Given the description of an element on the screen output the (x, y) to click on. 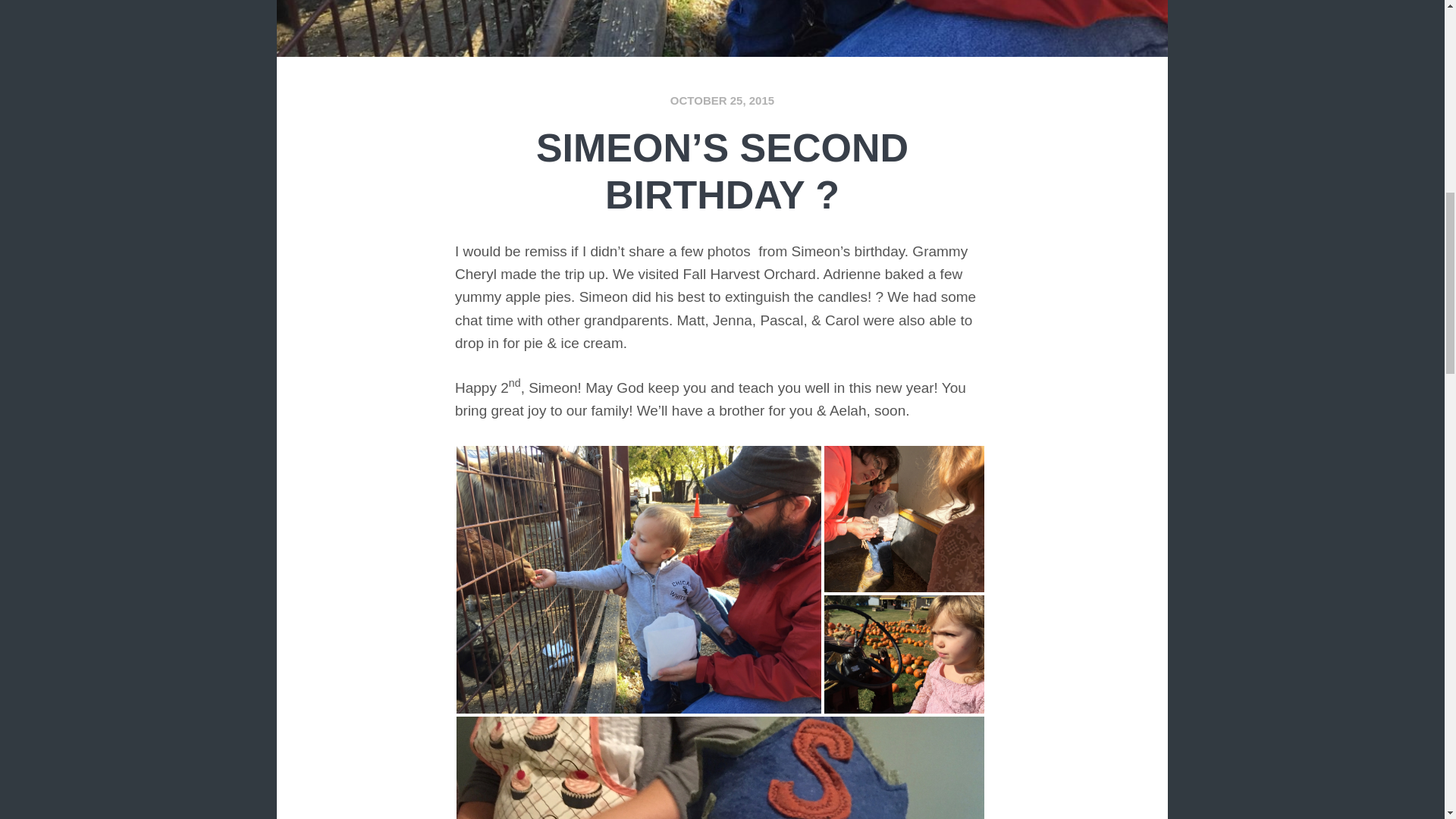
OCTOBER 25, 2015 (722, 100)
